Given the description of an element on the screen output the (x, y) to click on. 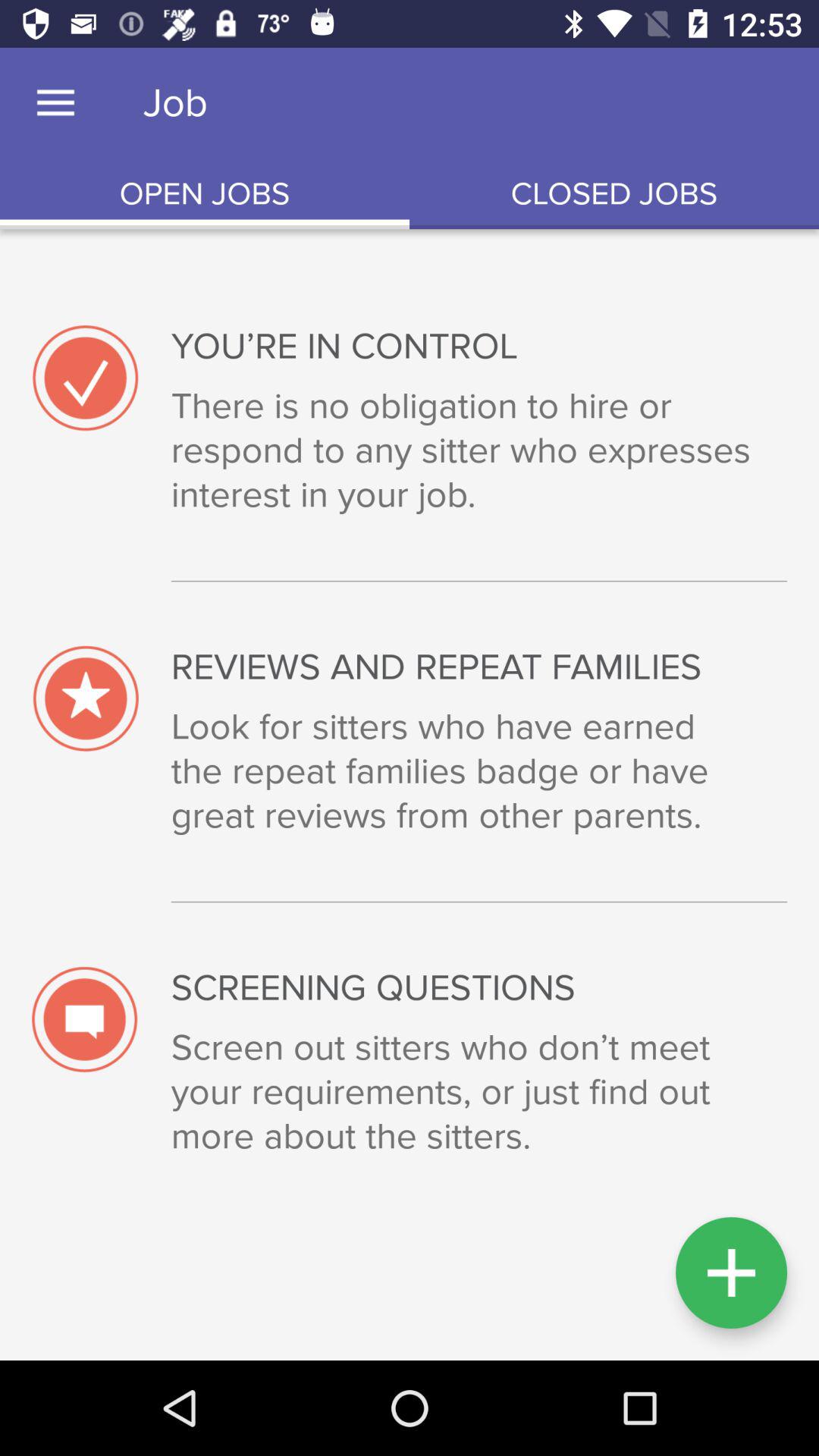
turn on item at the top right corner (614, 194)
